Given the description of an element on the screen output the (x, y) to click on. 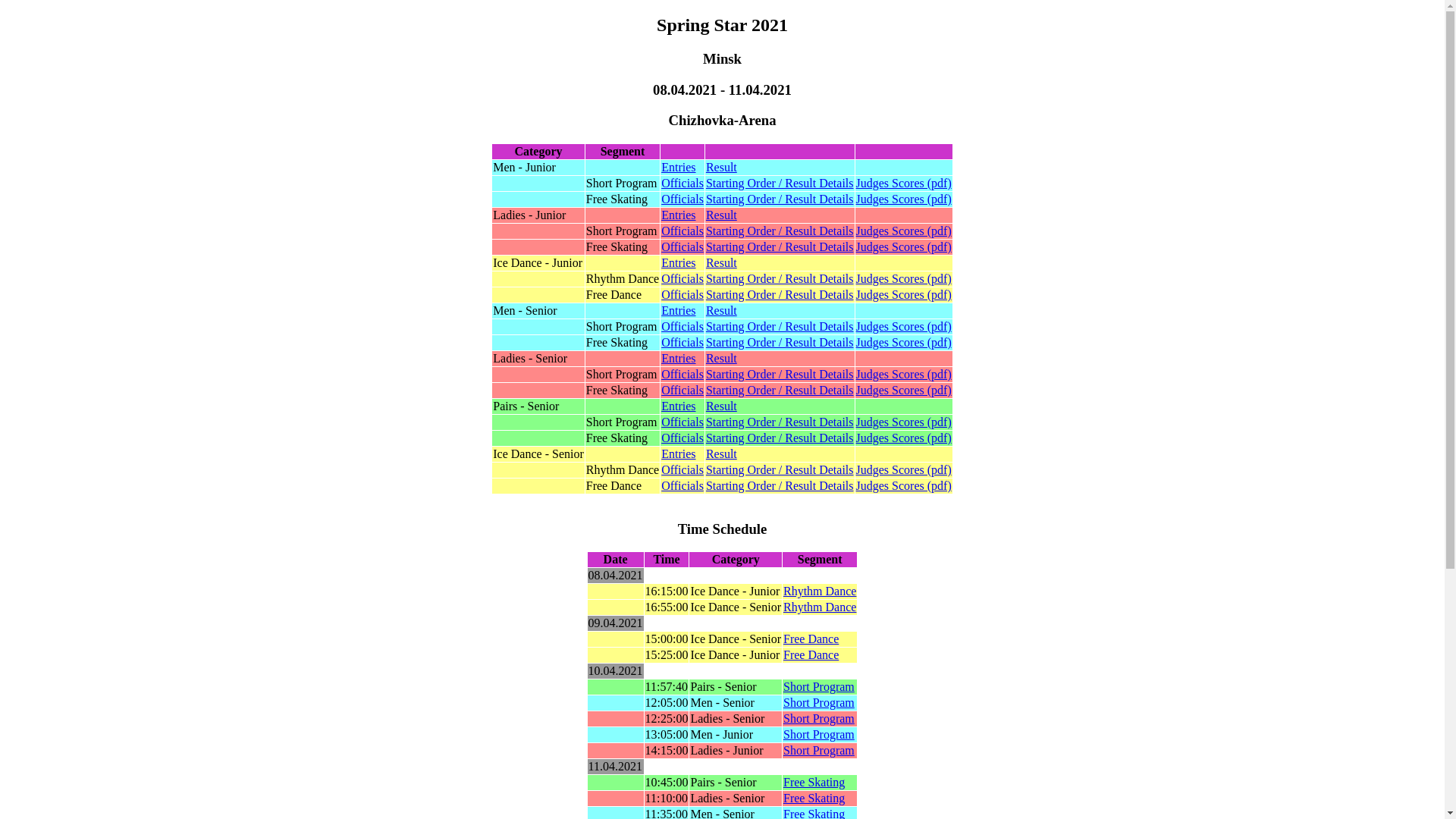
Entries Element type: text (678, 453)
Starting Order / Result Details Element type: text (779, 437)
Officials Element type: text (682, 341)
Short Program Element type: text (818, 686)
Result Element type: text (721, 310)
Judges Scores (pdf) Element type: text (903, 278)
Result Element type: text (721, 166)
Result Element type: text (721, 357)
Officials Element type: text (682, 437)
Entries Element type: text (678, 405)
Free Dance Element type: text (810, 654)
Judges Scores (pdf) Element type: text (903, 469)
Starting Order / Result Details Element type: text (779, 469)
Short Program Element type: text (818, 749)
Officials Element type: text (682, 373)
Rhythm Dance Element type: text (819, 606)
Judges Scores (pdf) Element type: text (903, 182)
Judges Scores (pdf) Element type: text (903, 198)
Free Skating Element type: text (813, 797)
Starting Order / Result Details Element type: text (779, 421)
Free Skating Element type: text (813, 781)
Officials Element type: text (682, 389)
Judges Scores (pdf) Element type: text (903, 485)
Officials Element type: text (682, 469)
Starting Order / Result Details Element type: text (779, 373)
Starting Order / Result Details Element type: text (779, 389)
Rhythm Dance Element type: text (819, 590)
Judges Scores (pdf) Element type: text (903, 437)
Officials Element type: text (682, 278)
Officials Element type: text (682, 198)
Officials Element type: text (682, 485)
Officials Element type: text (682, 246)
Starting Order / Result Details Element type: text (779, 246)
Officials Element type: text (682, 294)
Officials Element type: text (682, 326)
Result Element type: text (721, 453)
Result Element type: text (721, 214)
Starting Order / Result Details Element type: text (779, 278)
Starting Order / Result Details Element type: text (779, 182)
Result Element type: text (721, 262)
Starting Order / Result Details Element type: text (779, 198)
Starting Order / Result Details Element type: text (779, 326)
Officials Element type: text (682, 421)
Judges Scores (pdf) Element type: text (903, 373)
Free Dance Element type: text (810, 638)
Starting Order / Result Details Element type: text (779, 341)
Starting Order / Result Details Element type: text (779, 485)
Entries Element type: text (678, 357)
Judges Scores (pdf) Element type: text (903, 389)
Short Program Element type: text (818, 718)
Judges Scores (pdf) Element type: text (903, 246)
Entries Element type: text (678, 310)
Judges Scores (pdf) Element type: text (903, 294)
Entries Element type: text (678, 166)
Officials Element type: text (682, 230)
Short Program Element type: text (818, 734)
Judges Scores (pdf) Element type: text (903, 341)
Entries Element type: text (678, 262)
Entries Element type: text (678, 214)
Judges Scores (pdf) Element type: text (903, 326)
Starting Order / Result Details Element type: text (779, 294)
Officials Element type: text (682, 182)
Starting Order / Result Details Element type: text (779, 230)
Judges Scores (pdf) Element type: text (903, 230)
Result Element type: text (721, 405)
Short Program Element type: text (818, 702)
Judges Scores (pdf) Element type: text (903, 421)
